Given the description of an element on the screen output the (x, y) to click on. 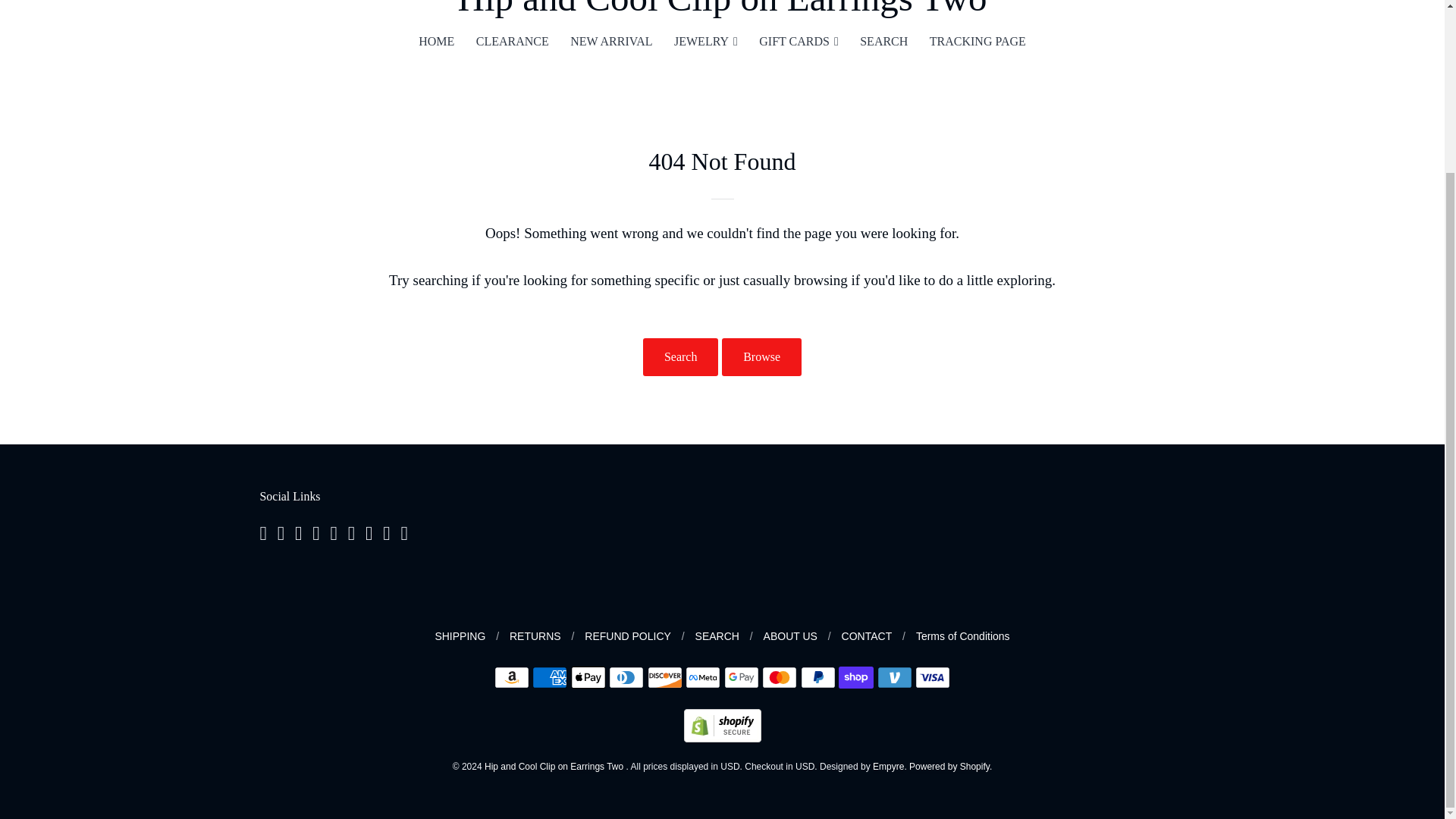
CLEARANCE (512, 41)
Amazon (512, 677)
GIFT CARDS (798, 41)
JEWELRY (705, 41)
Apple Pay (587, 677)
Visa (932, 677)
This online store is secured by Shopify (722, 738)
Shop Pay (855, 677)
Meta Pay (702, 677)
SEARCH (883, 41)
